Given the description of an element on the screen output the (x, y) to click on. 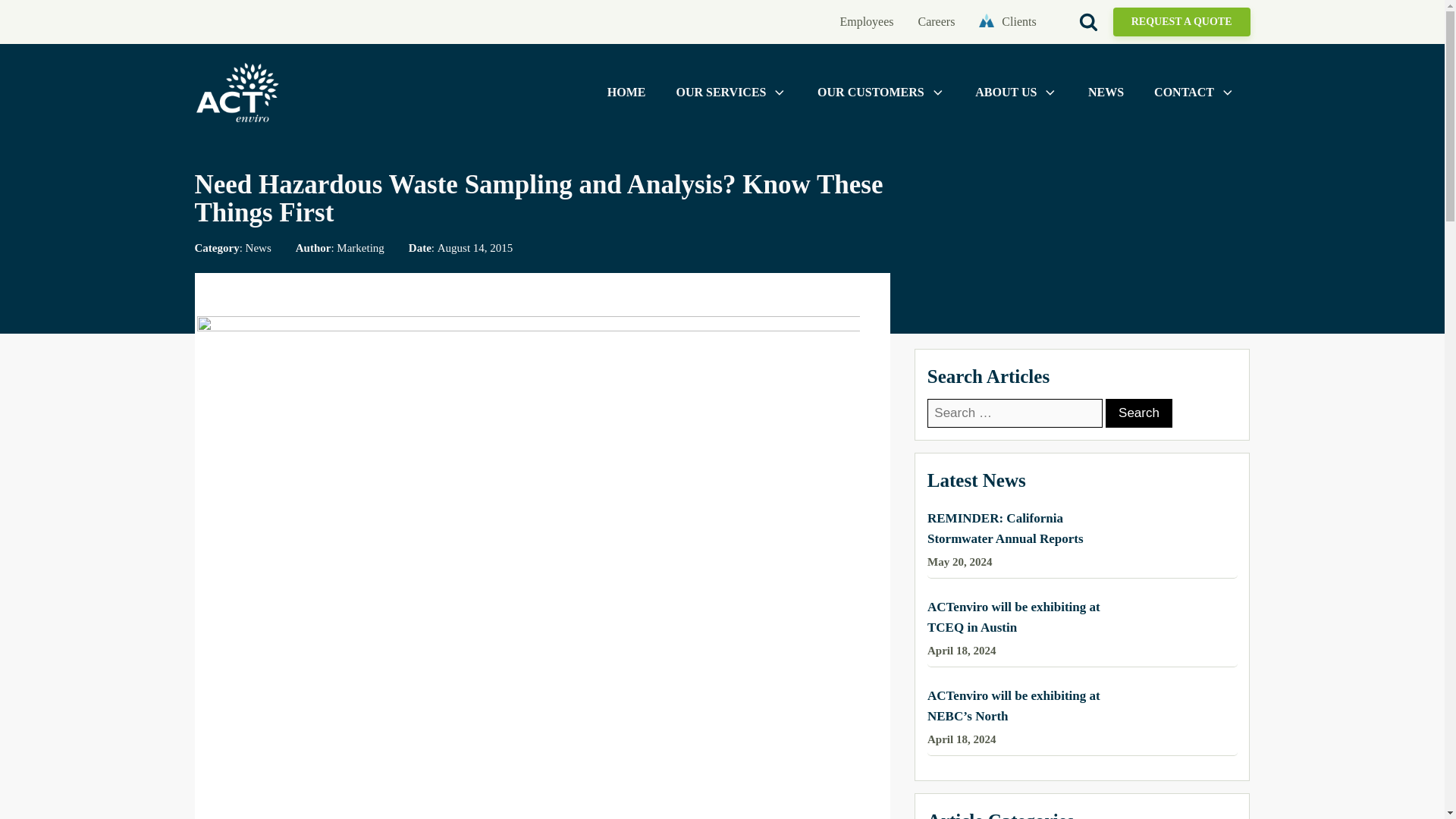
REQUEST A QUOTE (1181, 21)
OUR SERVICES (731, 92)
Search (1138, 413)
Employees (866, 22)
Search (1138, 413)
OUR CUSTOMERS (880, 92)
